Given the description of an element on the screen output the (x, y) to click on. 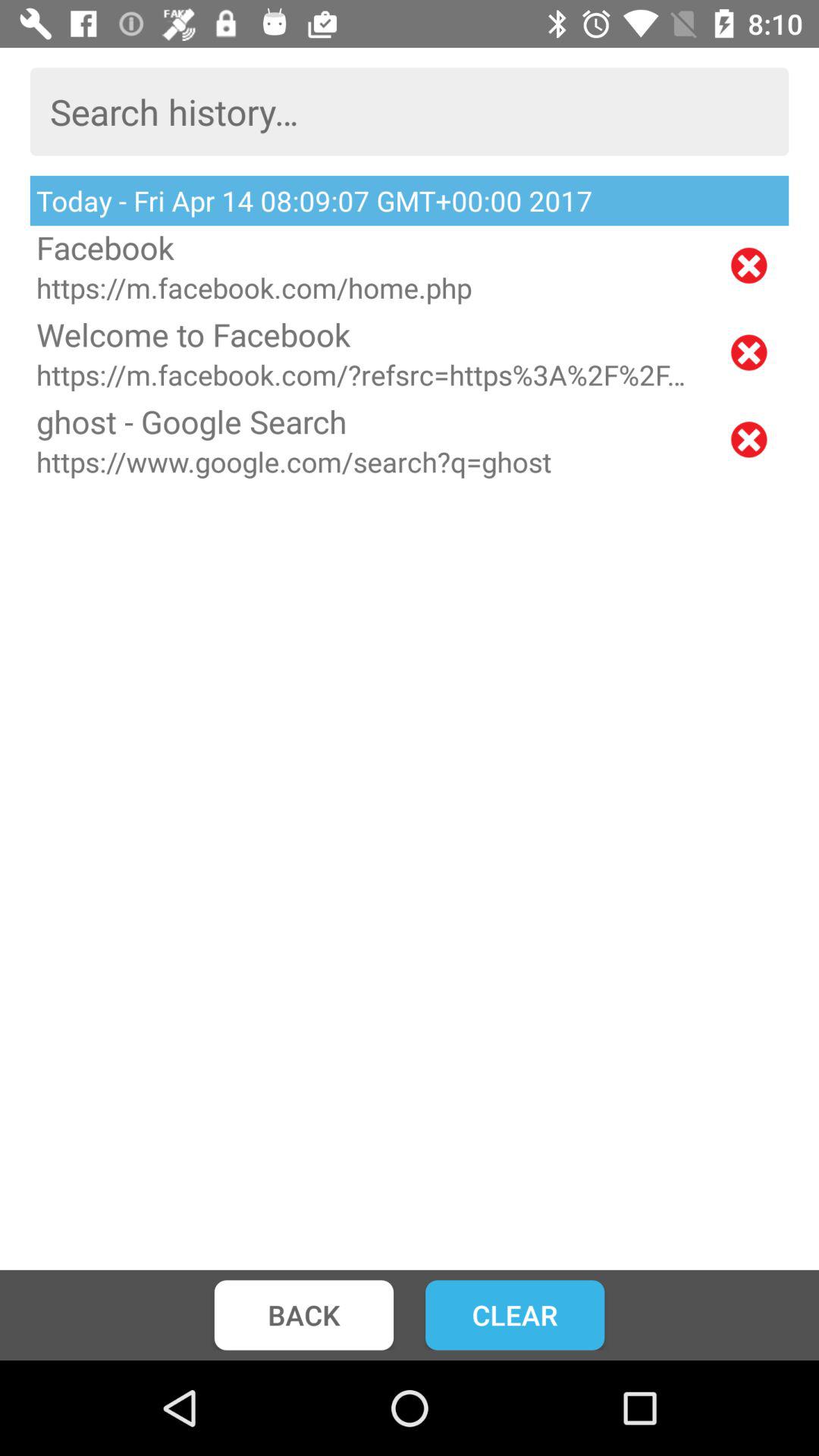
flip until the today fri apr (409, 200)
